Given the description of an element on the screen output the (x, y) to click on. 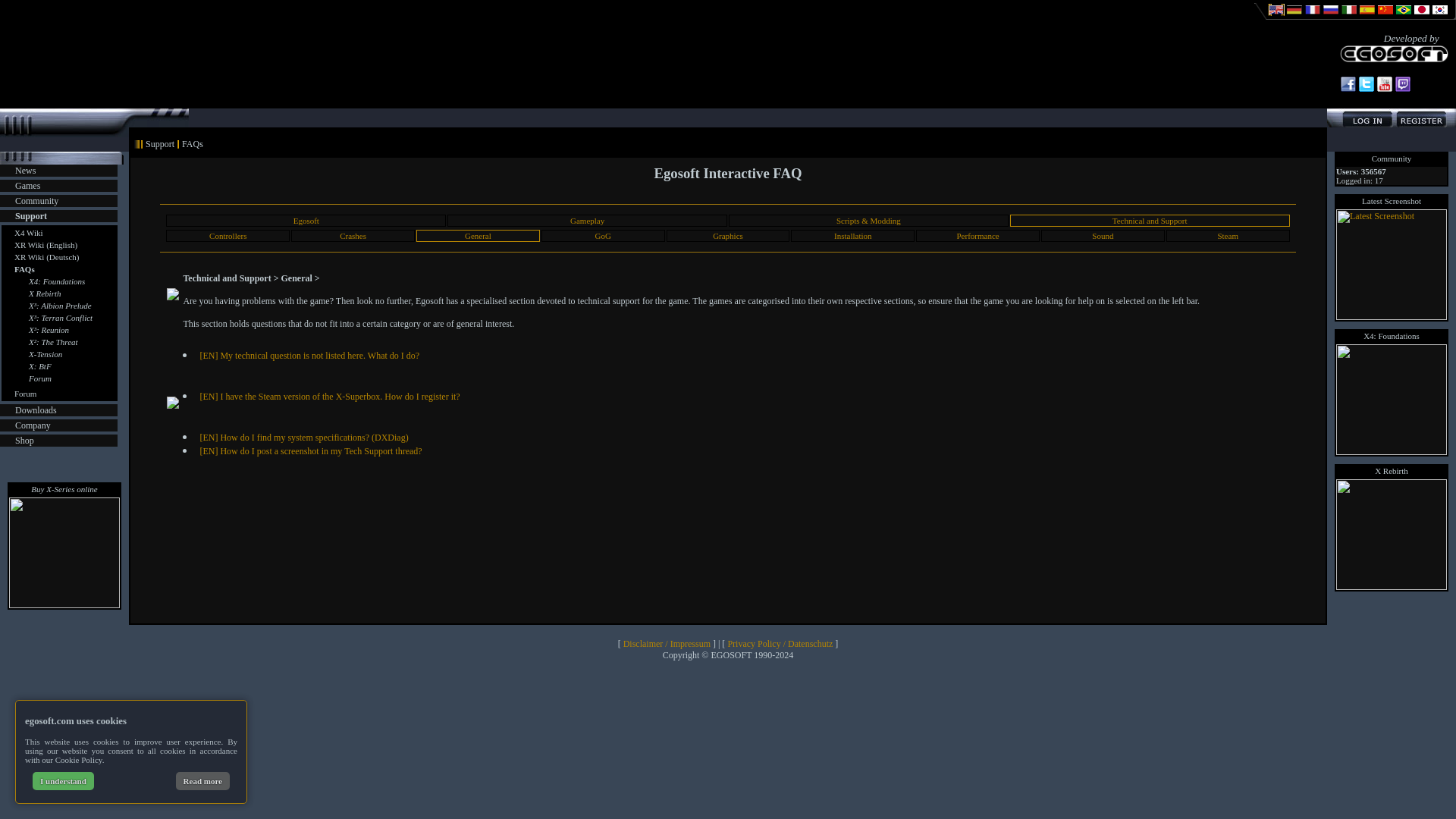
News (24, 170)
Support (30, 215)
Shop (23, 439)
Company (32, 425)
Games (27, 185)
X4: Foundations (56, 280)
X-Tension (45, 353)
French (1312, 16)
Community (36, 200)
German (1294, 16)
Brazilian (1403, 16)
Italian (1348, 16)
Downloads (35, 409)
X Rebirth (45, 293)
X: BtF (39, 366)
